Given the description of an element on the screen output the (x, y) to click on. 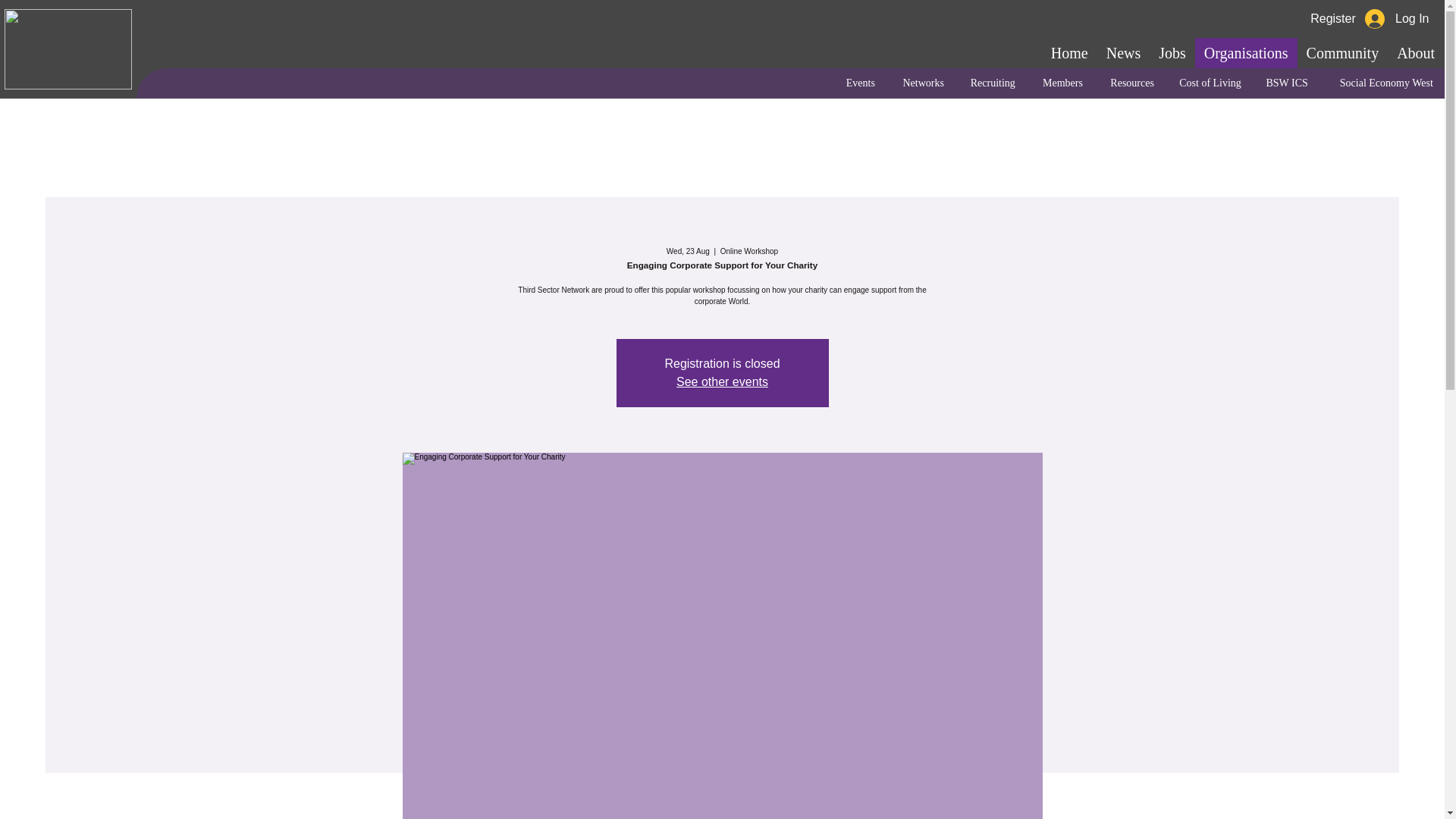
About (1415, 52)
Log In (1396, 18)
News (1123, 52)
BSW ICS (1285, 82)
Jobs (1172, 52)
Cost of Living (1209, 82)
Events (858, 82)
Resources (1130, 82)
Members (1060, 82)
Networks (920, 82)
Register (1332, 18)
Recruiting (990, 82)
Home (1069, 52)
